Given the description of an element on the screen output the (x, y) to click on. 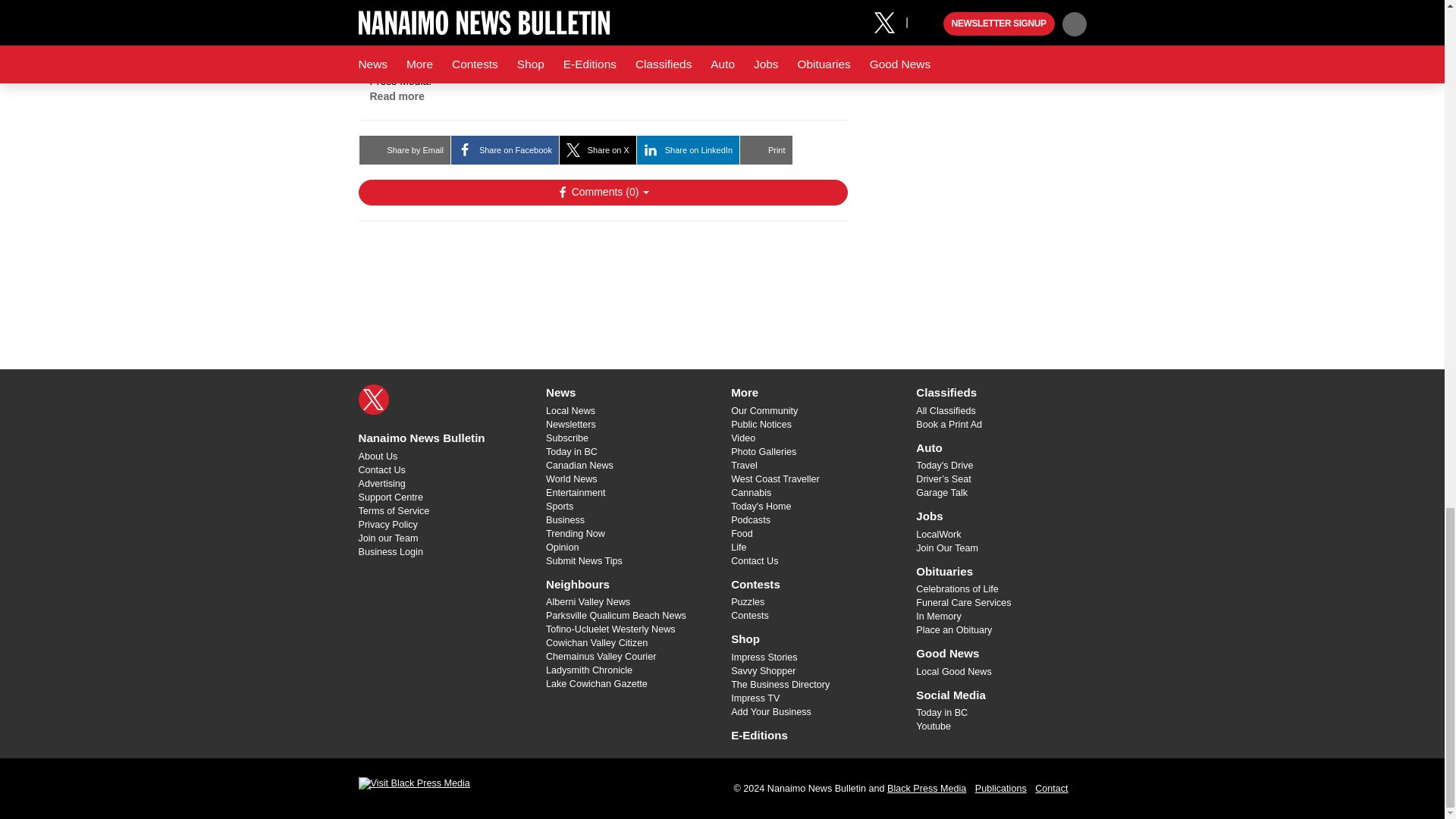
Show Comments (602, 192)
X (373, 399)
